Given the description of an element on the screen output the (x, y) to click on. 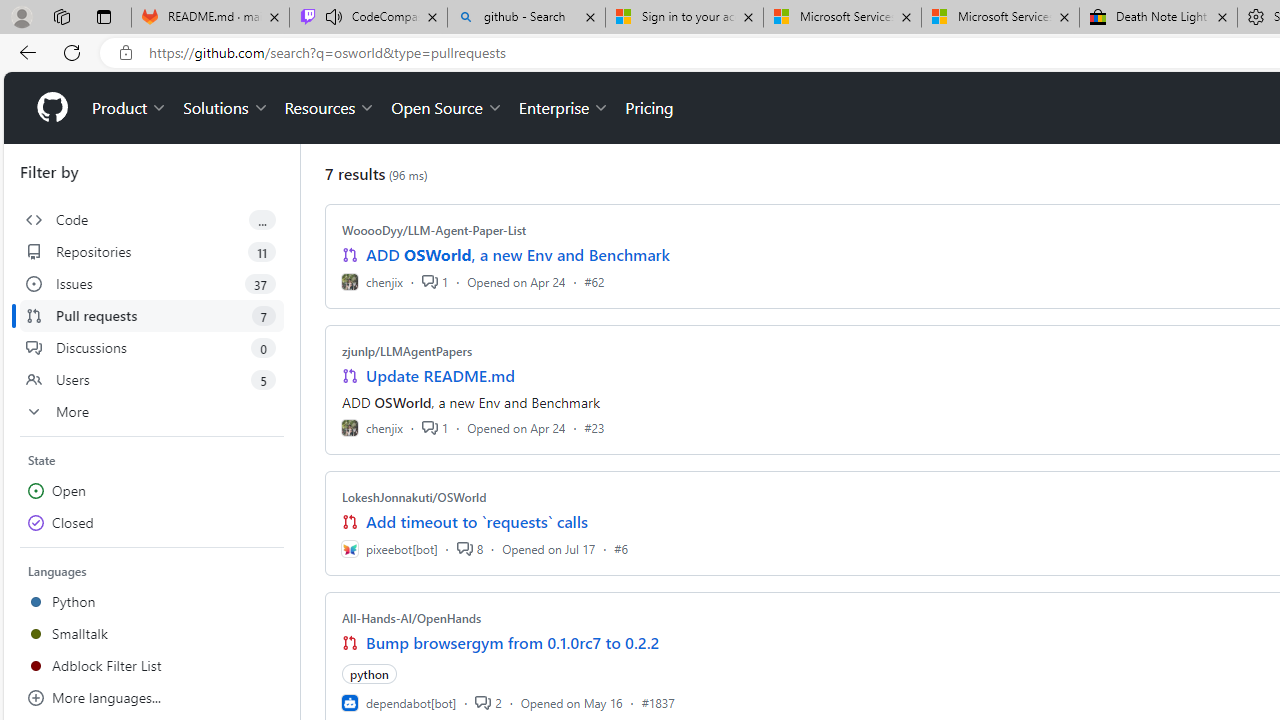
#62 (594, 281)
Update README.md (440, 376)
#23 (594, 427)
#1837 (657, 702)
ADD OSWorld, a new Env and Benchmark (517, 255)
Product (130, 107)
#6 (621, 548)
2 (487, 702)
#62 (594, 281)
github - Search (526, 17)
